Given the description of an element on the screen output the (x, y) to click on. 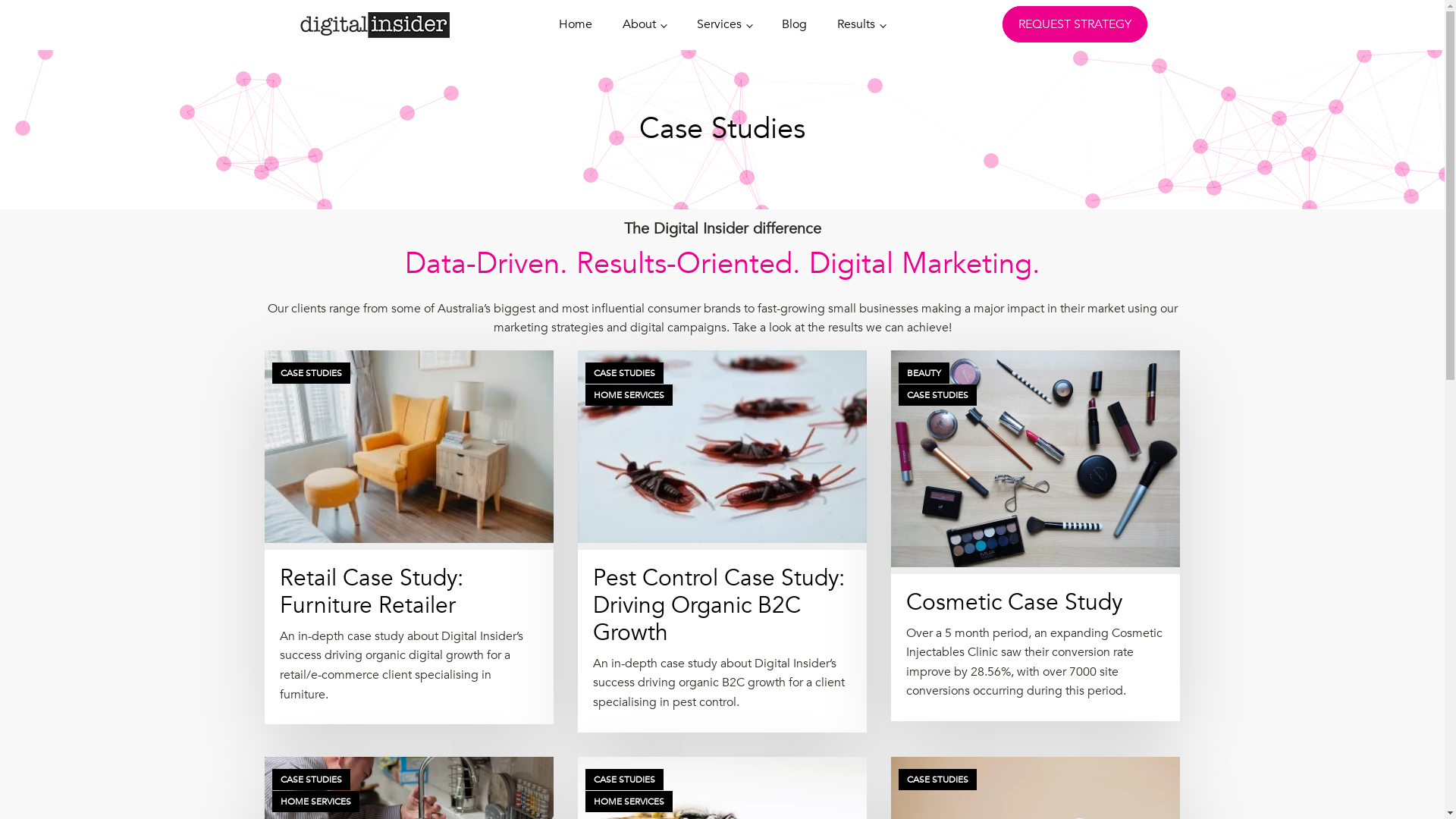
CASE STUDIES Element type: text (624, 372)
HOME SERVICES Element type: text (314, 801)
BEAUTY Element type: text (923, 372)
Home Element type: text (575, 25)
CASE STUDIES Element type: text (937, 394)
HOME SERVICES Element type: text (628, 801)
Services Element type: text (724, 25)
CASE STUDIES Element type: text (624, 779)
About Element type: text (644, 25)
HOME SERVICES Element type: text (628, 394)
Cosmetic Case Study Element type: text (1014, 602)
Blog Element type: text (794, 25)
CASE STUDIES Element type: text (937, 779)
Results Element type: text (861, 25)
CASE STUDIES Element type: text (310, 372)
REQUEST STRATEGY Element type: text (1074, 24)
Retail Case Study: Furniture Retailer Element type: text (370, 591)
Pest Control Case Study: Driving Organic B2C Growth Element type: text (718, 605)
CASE STUDIES Element type: text (310, 779)
